Given the description of an element on the screen output the (x, y) to click on. 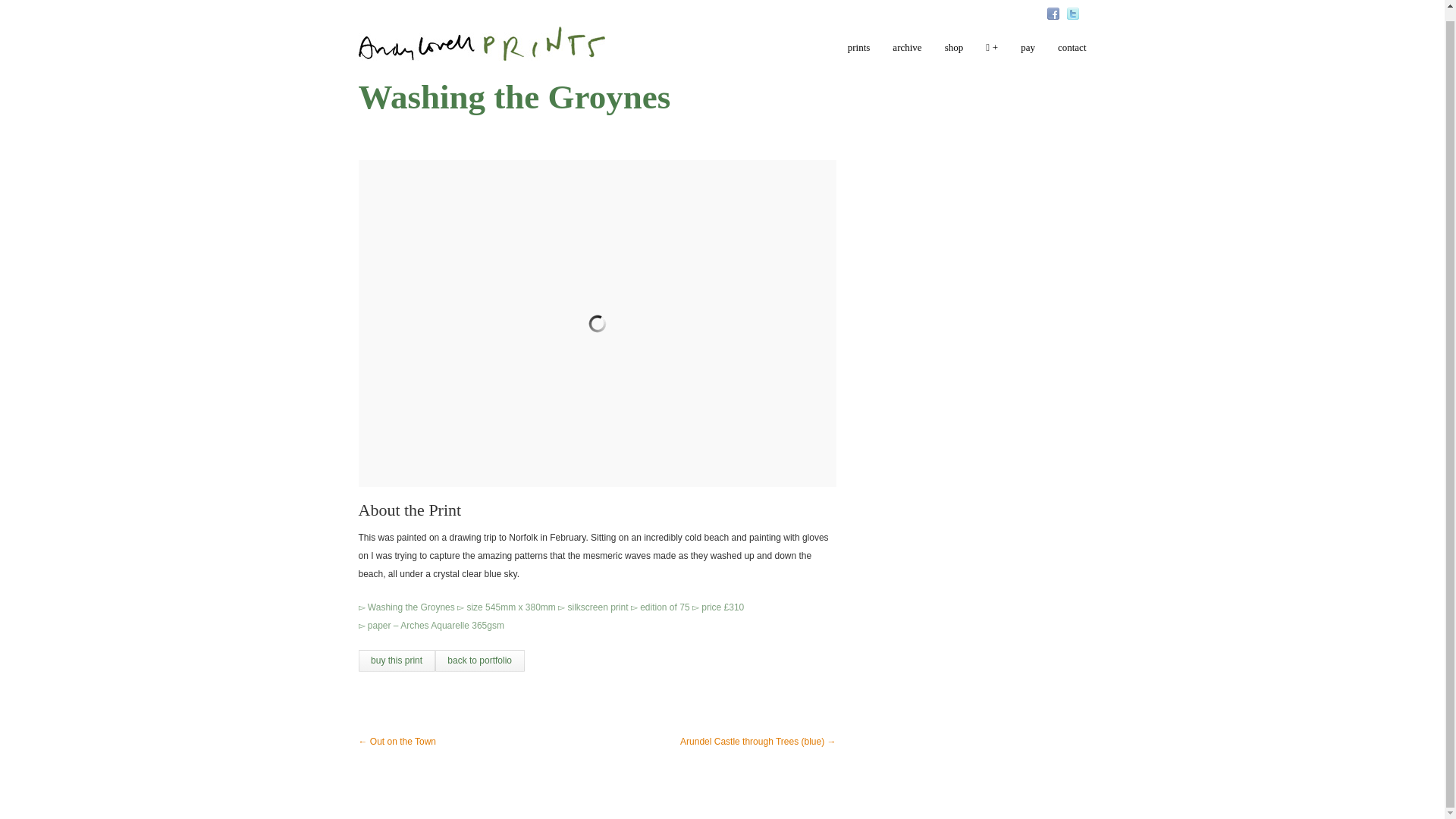
buy this print (395, 660)
archive (906, 42)
prints (858, 42)
contact (1071, 42)
shop (954, 42)
follow me on Facebook (1052, 4)
back to portfolio (479, 660)
follow me on Twitter (1071, 4)
